Given the description of an element on the screen output the (x, y) to click on. 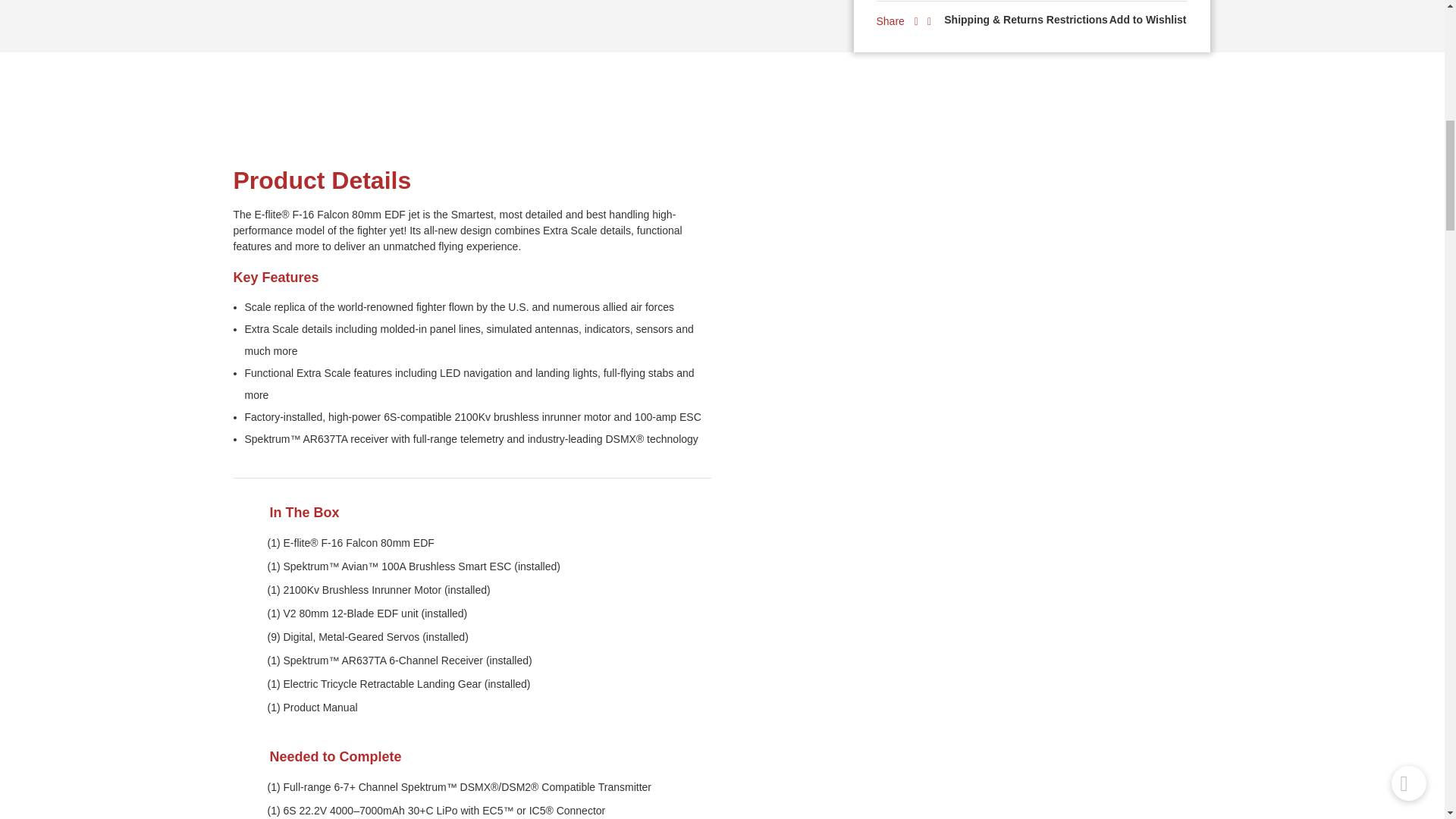
icon-how-to (244, 758)
icon-box (244, 514)
